Given the description of an element on the screen output the (x, y) to click on. 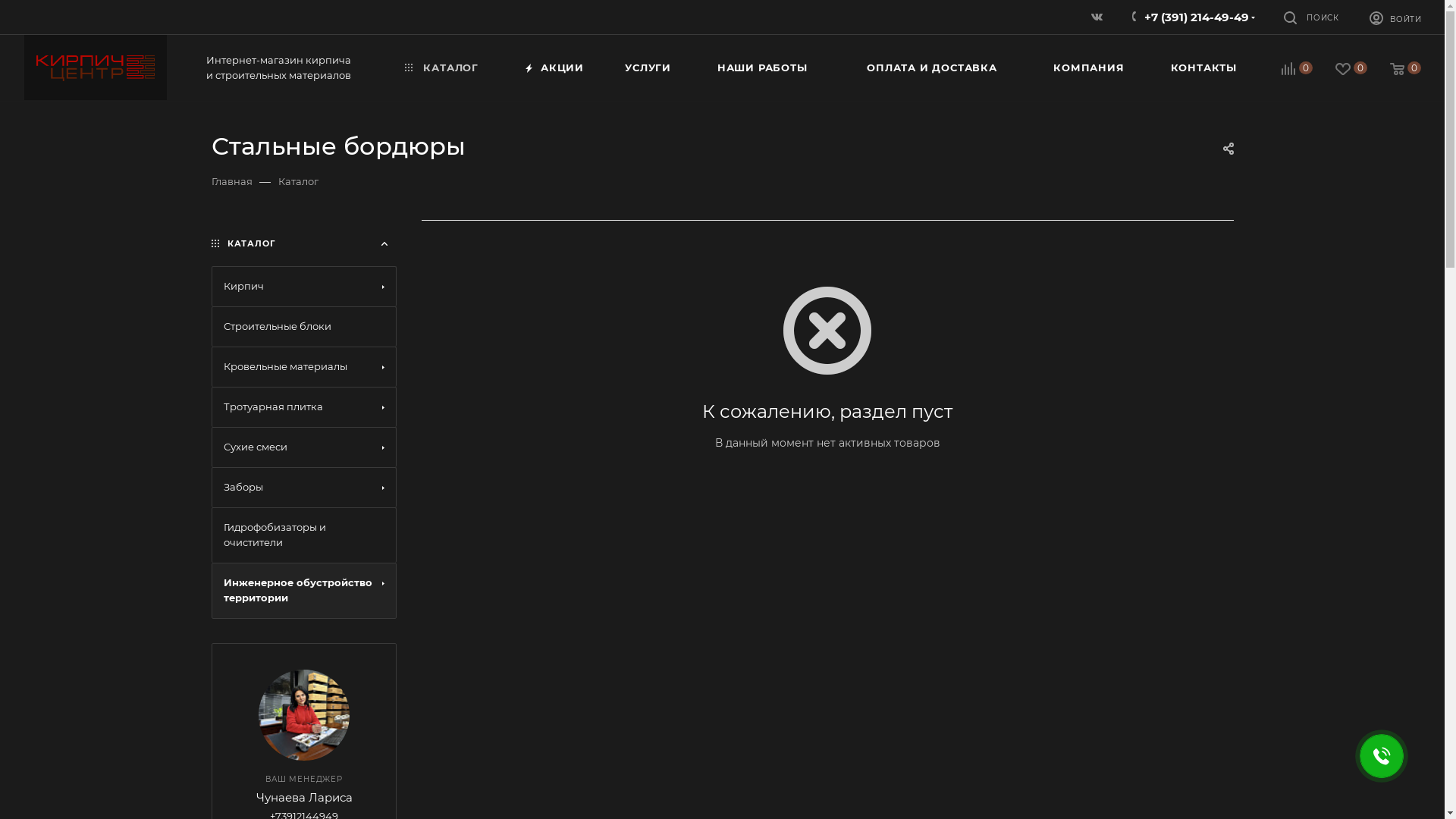
0 Element type: text (1286, 69)
0 Element type: text (1394, 69)
0 Element type: text (1340, 69)
+7 (391) 214-49-49 Element type: text (1196, 16)
